Given the description of an element on the screen output the (x, y) to click on. 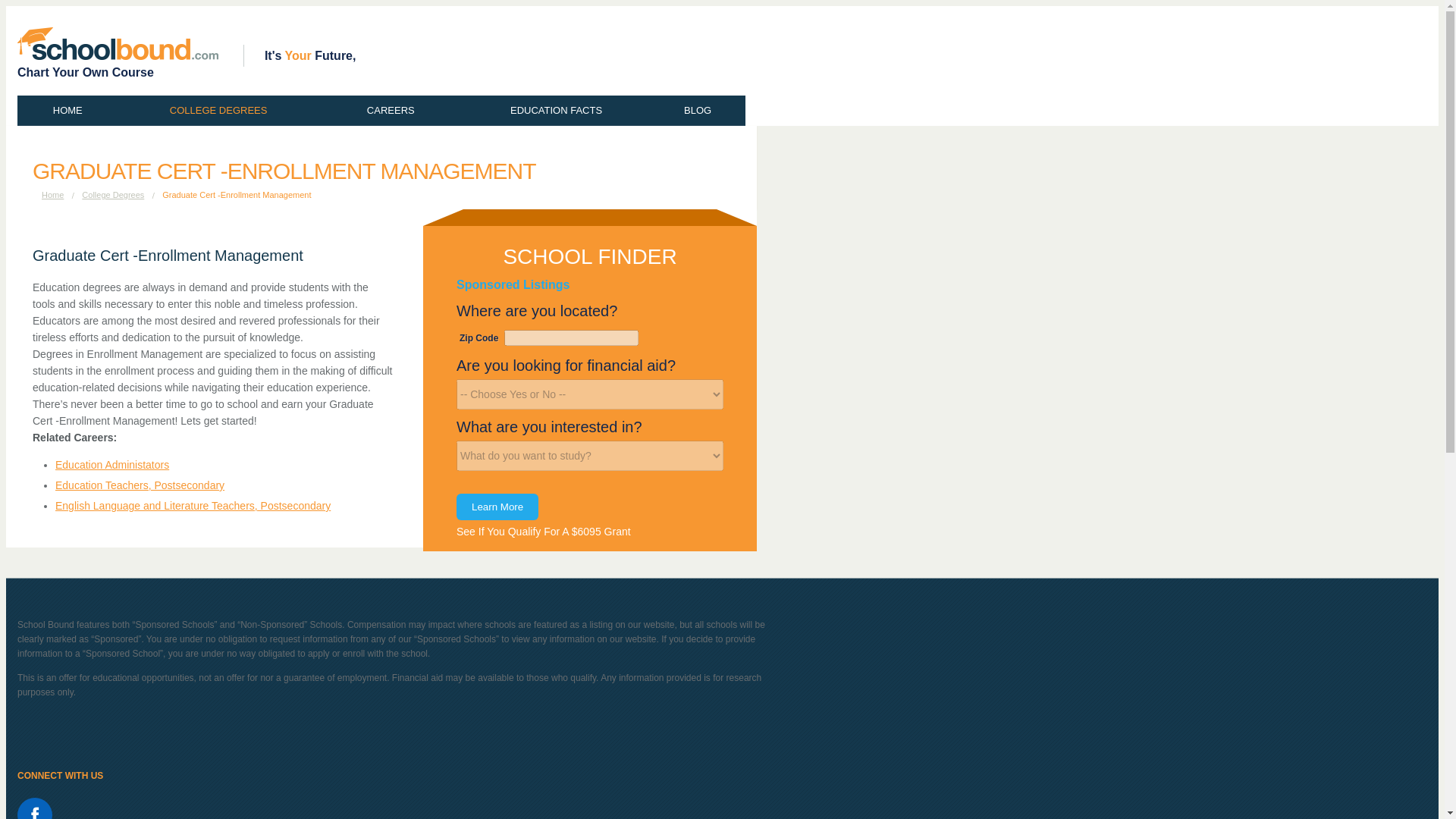
Area of Interest (590, 455)
Education Administators (111, 464)
English Language and Literature Teachers, Postsecondary (192, 505)
COLLEGE DEGREES (218, 110)
Financial Aid (590, 394)
Go to College Degrees. (112, 194)
Learn More (497, 506)
HOME (67, 110)
College Degrees (112, 194)
English Language and Literature Teachers, Postsecondary (192, 505)
EDUCATION FACTS (556, 110)
Facebook (34, 808)
Education Teachers, Postsecondary (139, 485)
Zip Code (571, 337)
Home (53, 194)
